Given the description of an element on the screen output the (x, y) to click on. 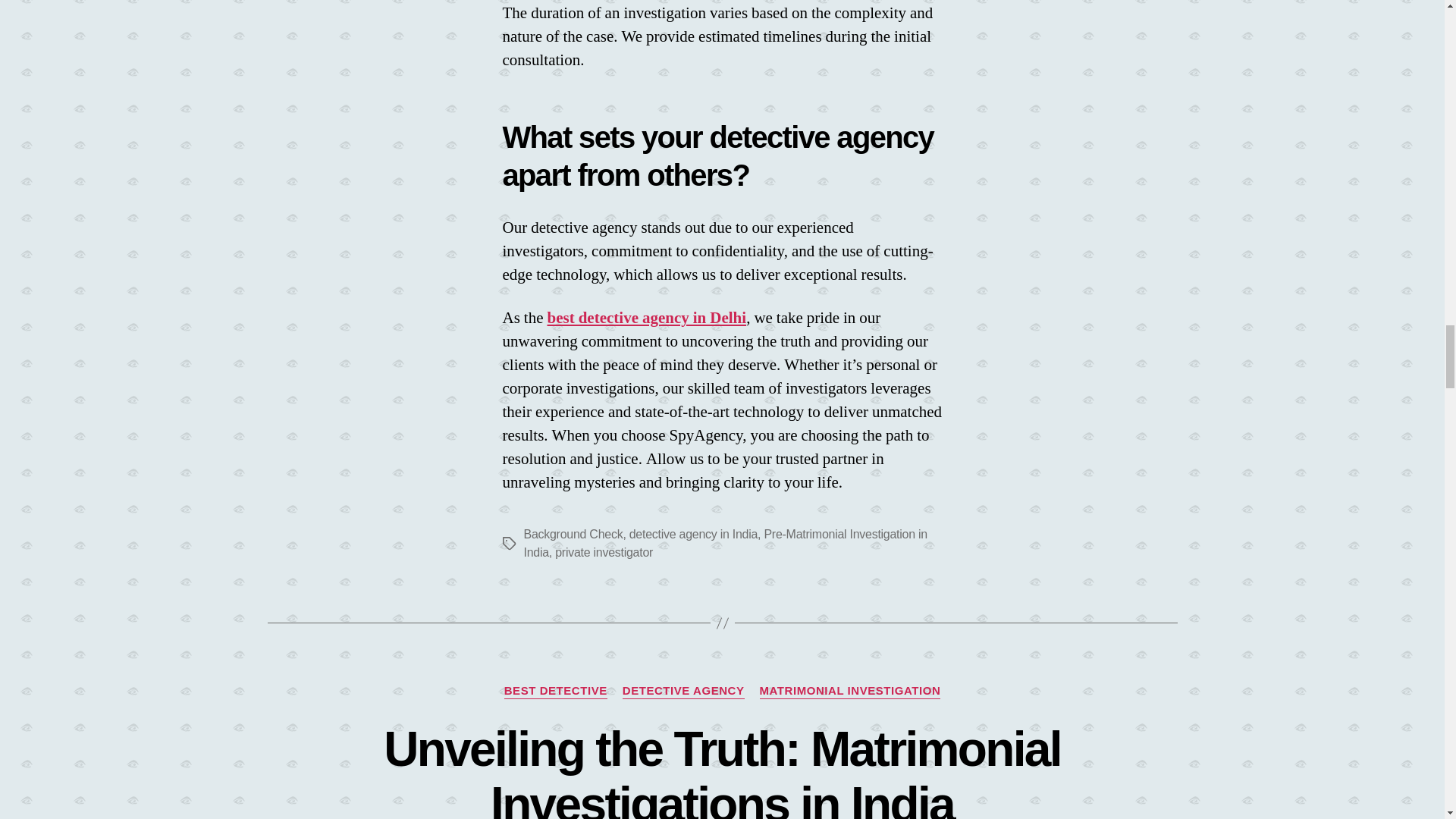
DETECTIVE AGENCY (683, 691)
detective agency in India (692, 533)
Unveiling the Truth: Matrimonial Investigations in India (722, 770)
best detective agency in Delhi (646, 317)
MATRIMONIAL INVESTIGATION (850, 691)
BEST DETECTIVE (555, 691)
Pre-Matrimonial Investigation in India (724, 542)
Background Check (572, 533)
private investigator (603, 552)
